Given the description of an element on the screen output the (x, y) to click on. 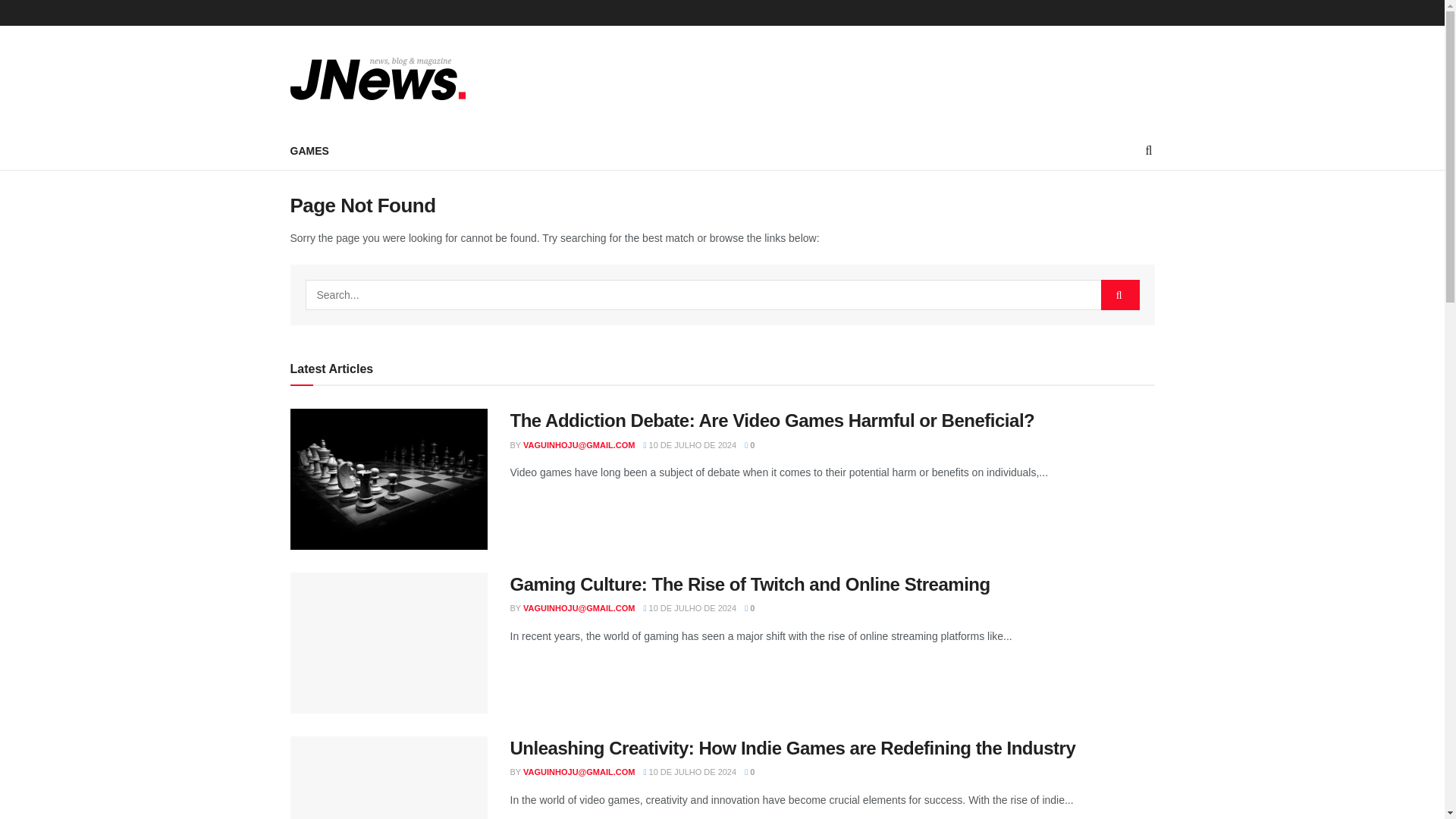
10 DE JULHO DE 2024 (689, 771)
0 (749, 444)
GAMES (309, 150)
Gaming Culture: The Rise of Twitch and Online Streaming (749, 584)
The Addiction Debate: Are Video Games Harmful or Beneficial? (771, 420)
10 DE JULHO DE 2024 (689, 607)
0 (749, 607)
0 (749, 771)
10 DE JULHO DE 2024 (689, 444)
